Given the description of an element on the screen output the (x, y) to click on. 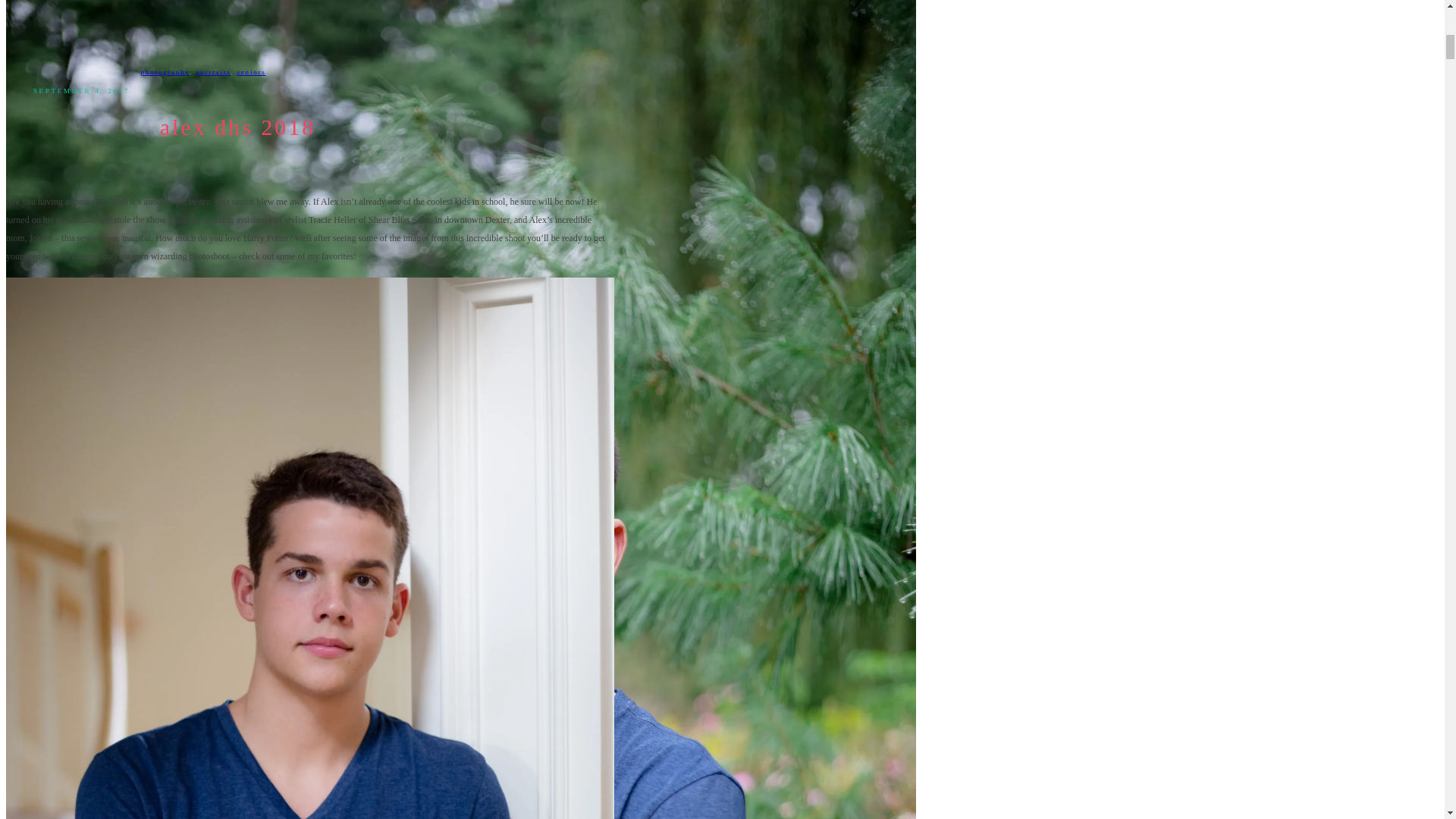
portraits (212, 71)
seniors (251, 71)
photography (164, 71)
